Given the description of an element on the screen output the (x, y) to click on. 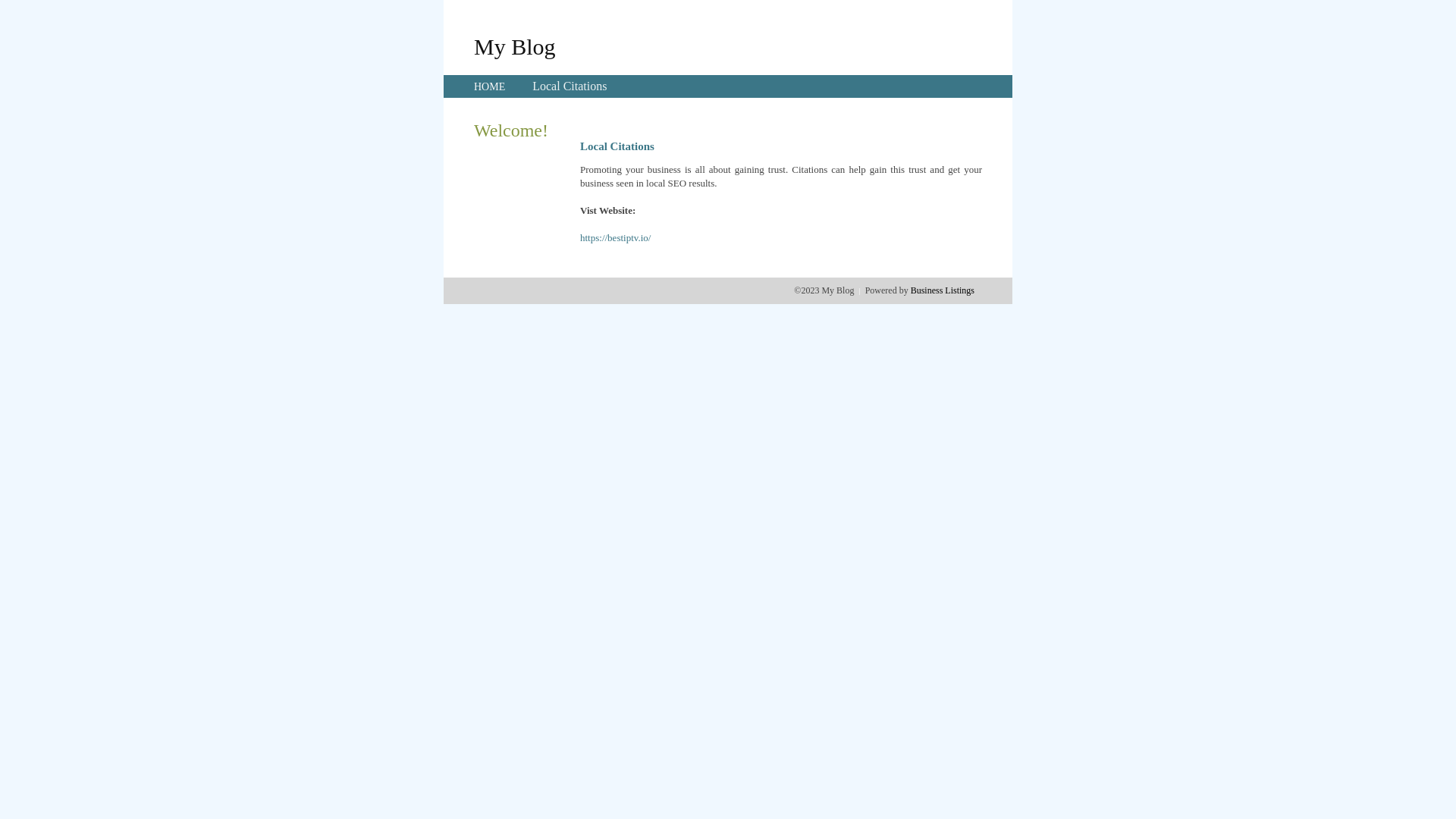
My Blog Element type: text (514, 46)
Business Listings Element type: text (942, 290)
HOME Element type: text (489, 86)
Local Citations Element type: text (569, 85)
https://bestiptv.io/ Element type: text (615, 237)
